Given the description of an element on the screen output the (x, y) to click on. 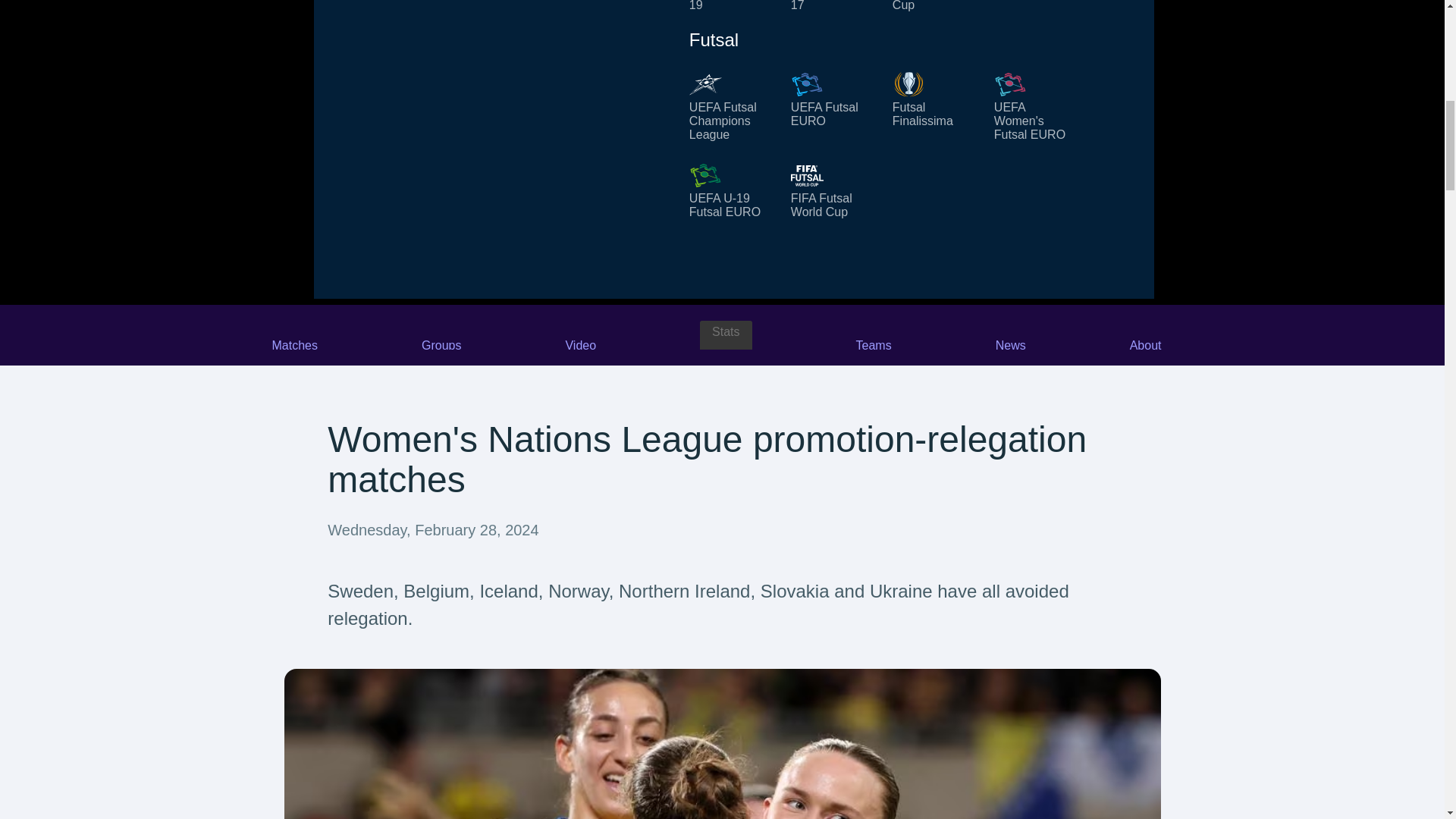
UEFA Under-17 (832, 6)
UEFA Regions' Cup (933, 6)
UEFA Under-19 (730, 6)
